Given the description of an element on the screen output the (x, y) to click on. 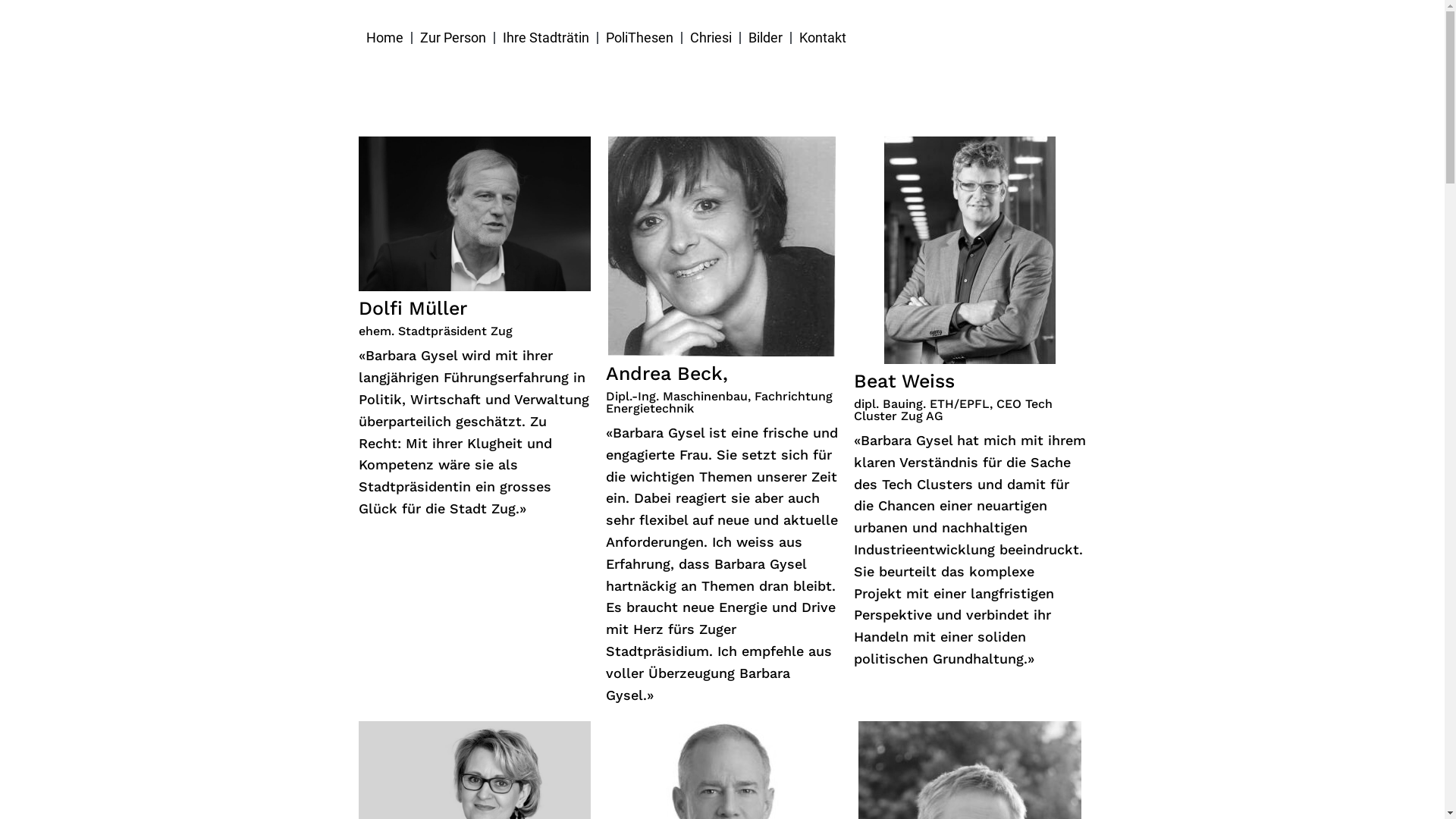
Zur Person Element type: text (452, 37)
Home Element type: text (383, 37)
Chriesi Element type: text (710, 37)
Kontakt Element type: text (822, 37)
PoliThesen Element type: text (638, 37)
Bilder Element type: text (764, 37)
